Given the description of an element on the screen output the (x, y) to click on. 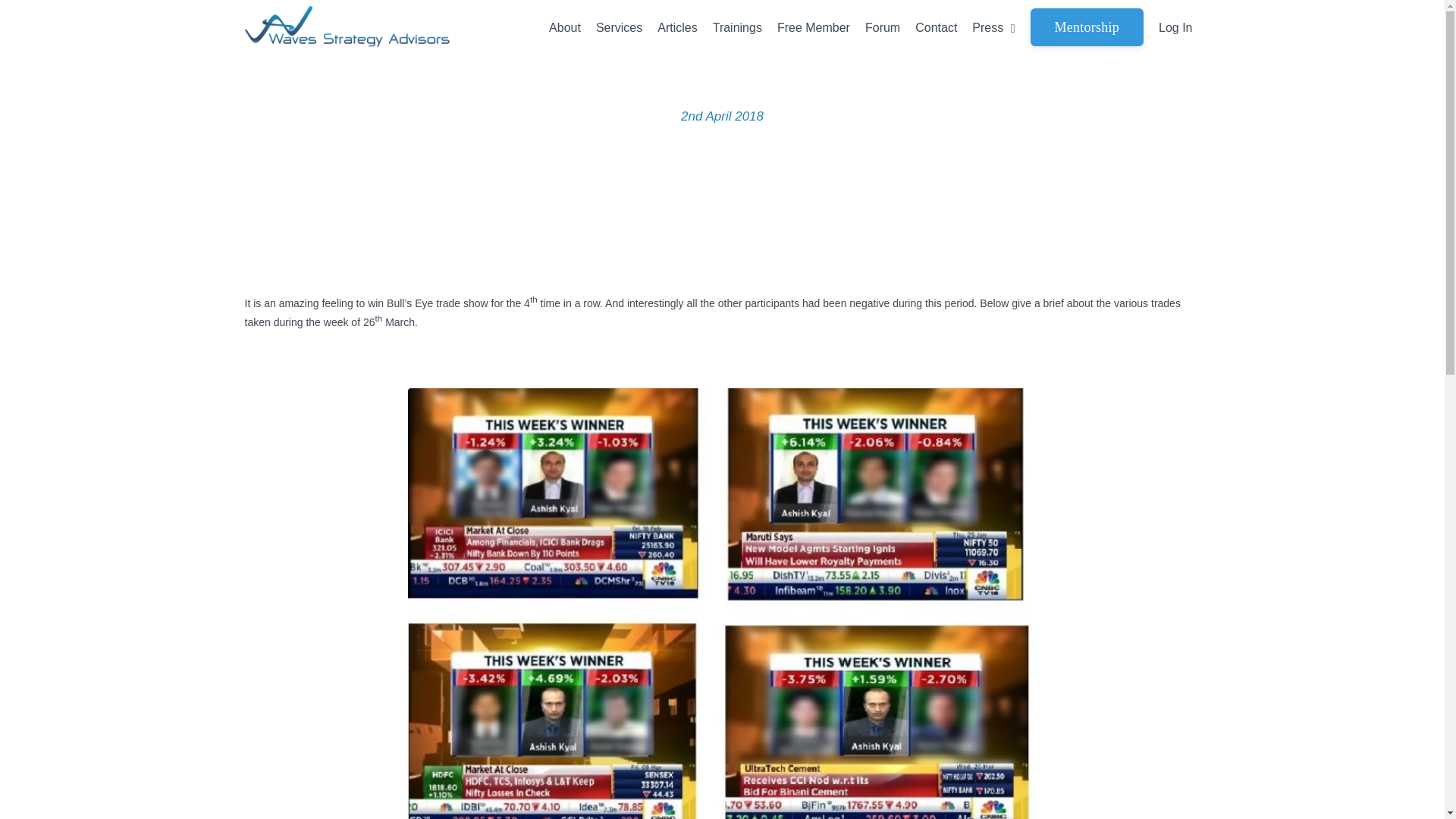
Contact (935, 27)
About (564, 27)
Press (993, 27)
Trainings (737, 27)
Articles (677, 27)
Mentorship (1087, 26)
Forum (881, 27)
Log In (1175, 27)
Free Member (813, 27)
Services (618, 27)
